Given the description of an element on the screen output the (x, y) to click on. 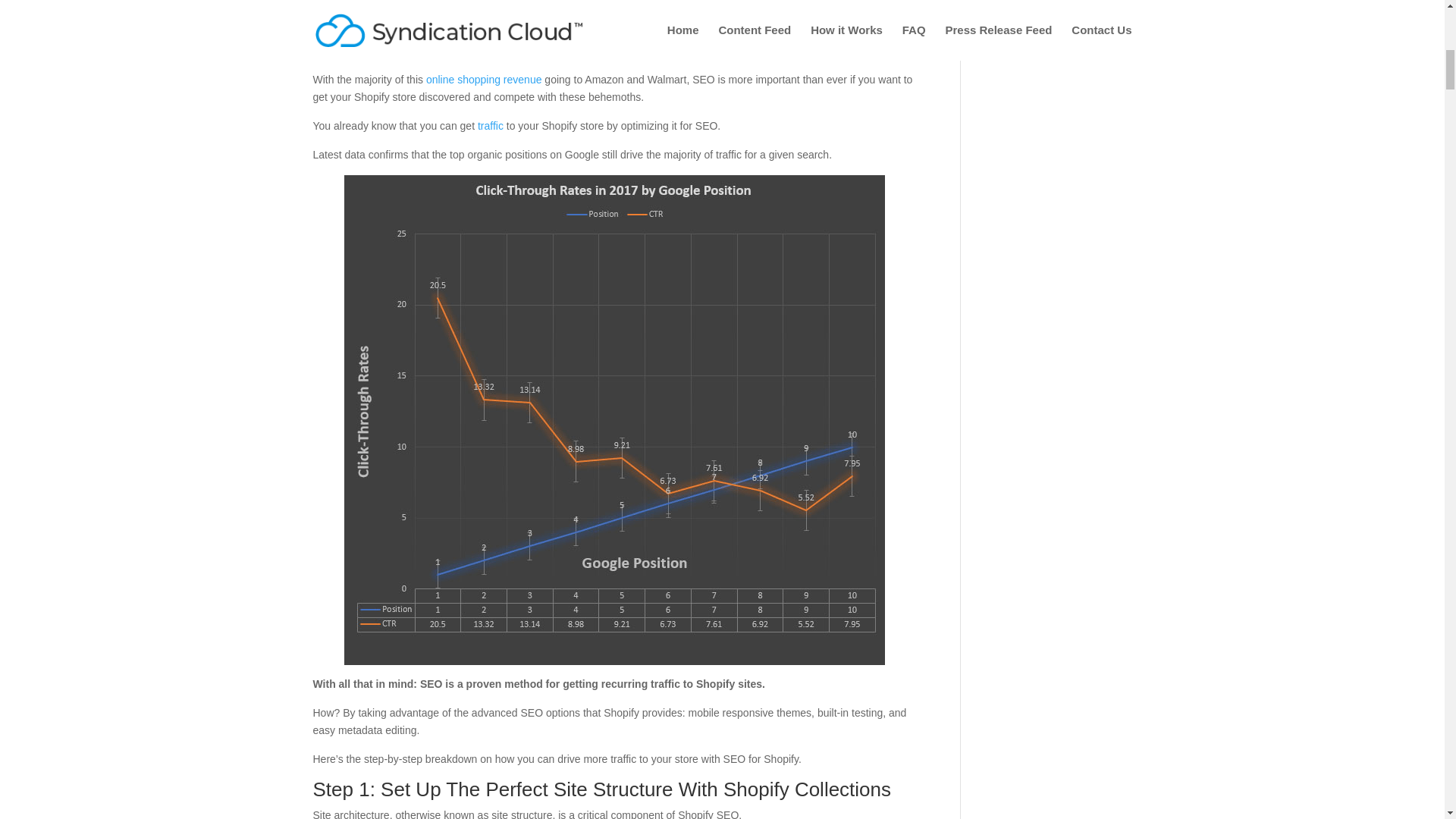
traffic (490, 125)
online shopping revenue (483, 79)
